Given the description of an element on the screen output the (x, y) to click on. 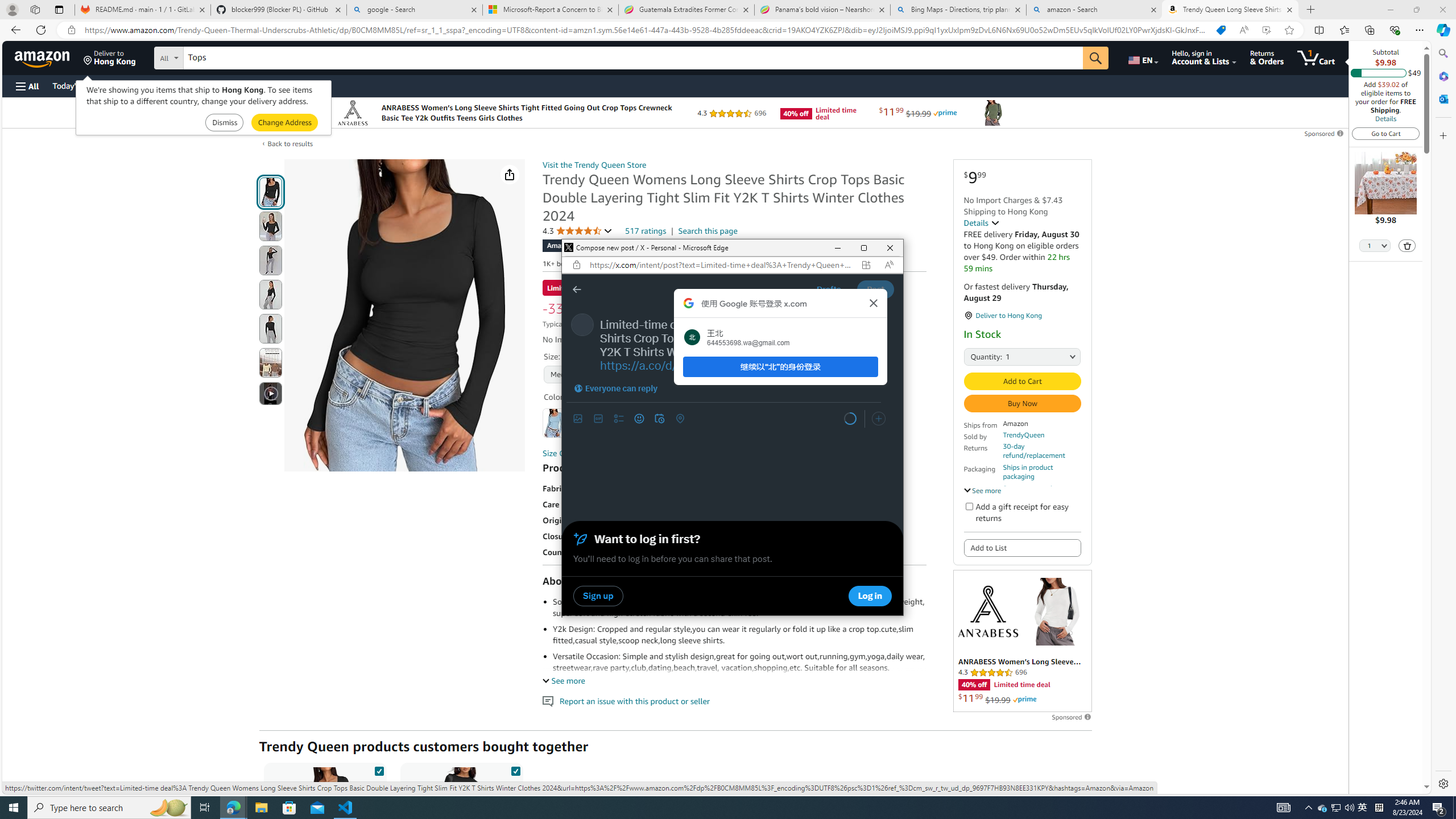
Schedule post (659, 418)
Add a GIF (598, 418)
Report an issue with this product or seller (548, 701)
Previous (579, 418)
Go (1096, 57)
Post (875, 289)
google - Search (414, 9)
Share (1362, 807)
